Given the description of an element on the screen output the (x, y) to click on. 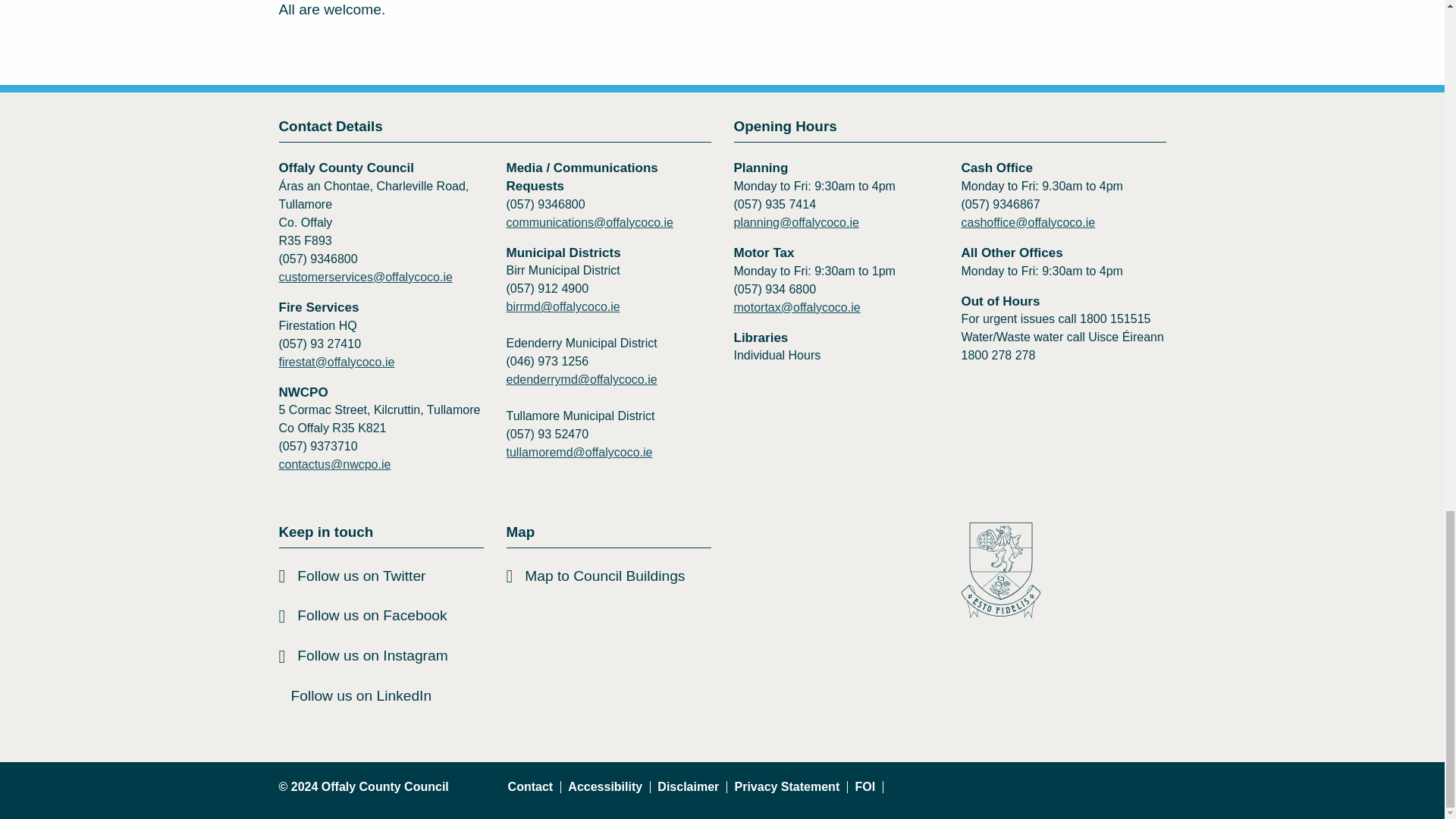
FOI (865, 787)
Follow us on Facebook (381, 616)
Privacy Statement (786, 787)
Map to Council Buildings (608, 576)
Follow us on Twitter (381, 576)
Disclaimer (688, 787)
Follow us on Instagram (381, 656)
Follow us on LinkedIn (381, 696)
Accessibility (605, 787)
Contact (530, 787)
